Given the description of an element on the screen output the (x, y) to click on. 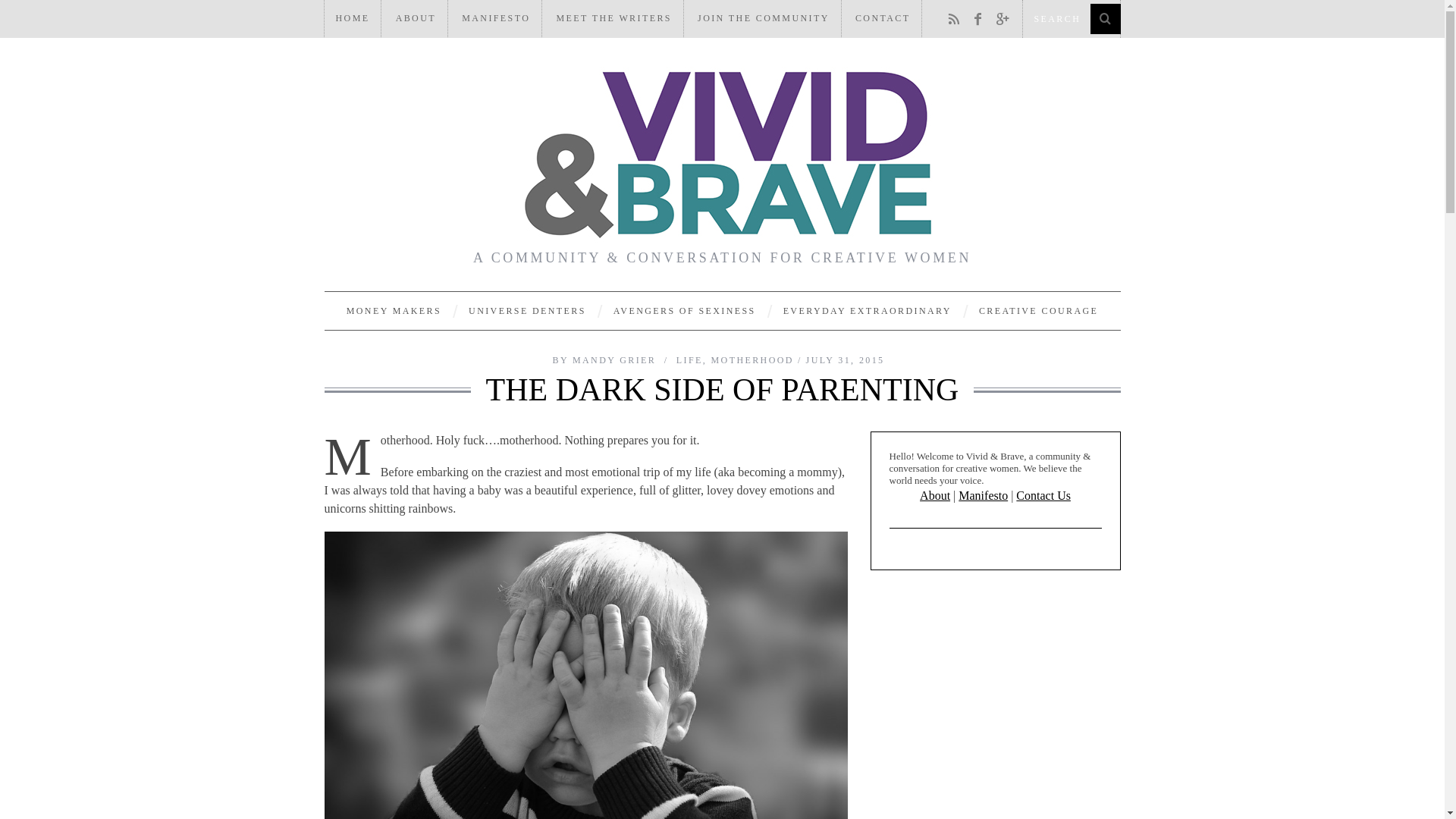
ABOUT (415, 18)
HOME (352, 18)
Search (1071, 18)
MEET THE WRITERS (613, 18)
AVENGERS OF SEXINESS (684, 310)
MONEY MAKERS (393, 310)
CONTACT (882, 18)
UNIVERSE DENTERS (526, 310)
JOIN THE COMMUNITY (763, 18)
MANIFESTO (495, 18)
